Given the description of an element on the screen output the (x, y) to click on. 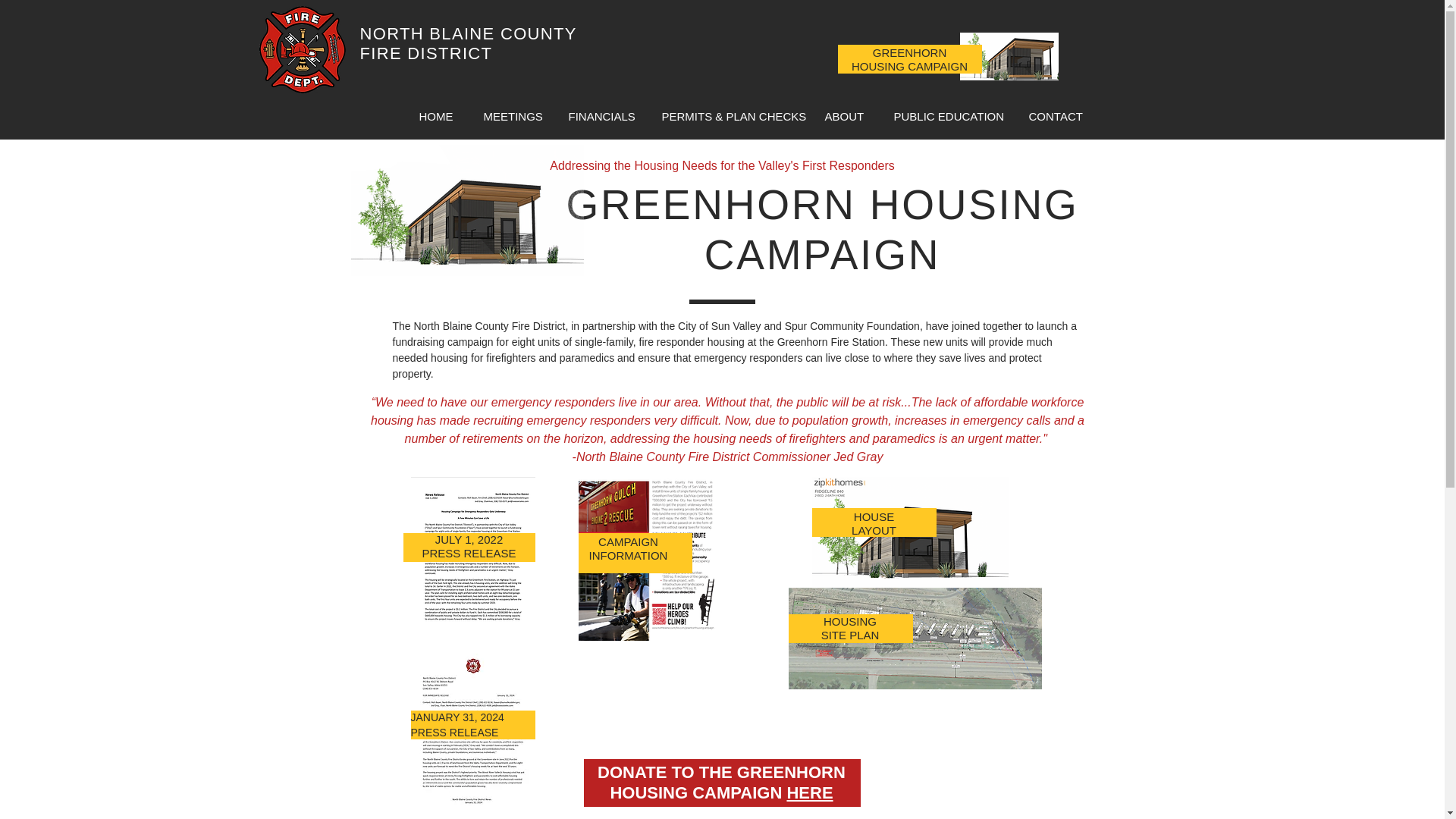
FIRE DISTRICT (425, 53)
GREENHORN HOUSING CAMPAIGN (909, 58)
FINANCIALS (599, 116)
MEETINGS (510, 116)
PUBLIC EDUCATION (945, 116)
CONTACT (1053, 116)
ABOUT (844, 116)
HOME (435, 116)
NORTH BLAINE COUNTY (467, 33)
DONATE TO THE GREENHORN HOUSING CAMPAIGN HERE (720, 781)
